Given the description of an element on the screen output the (x, y) to click on. 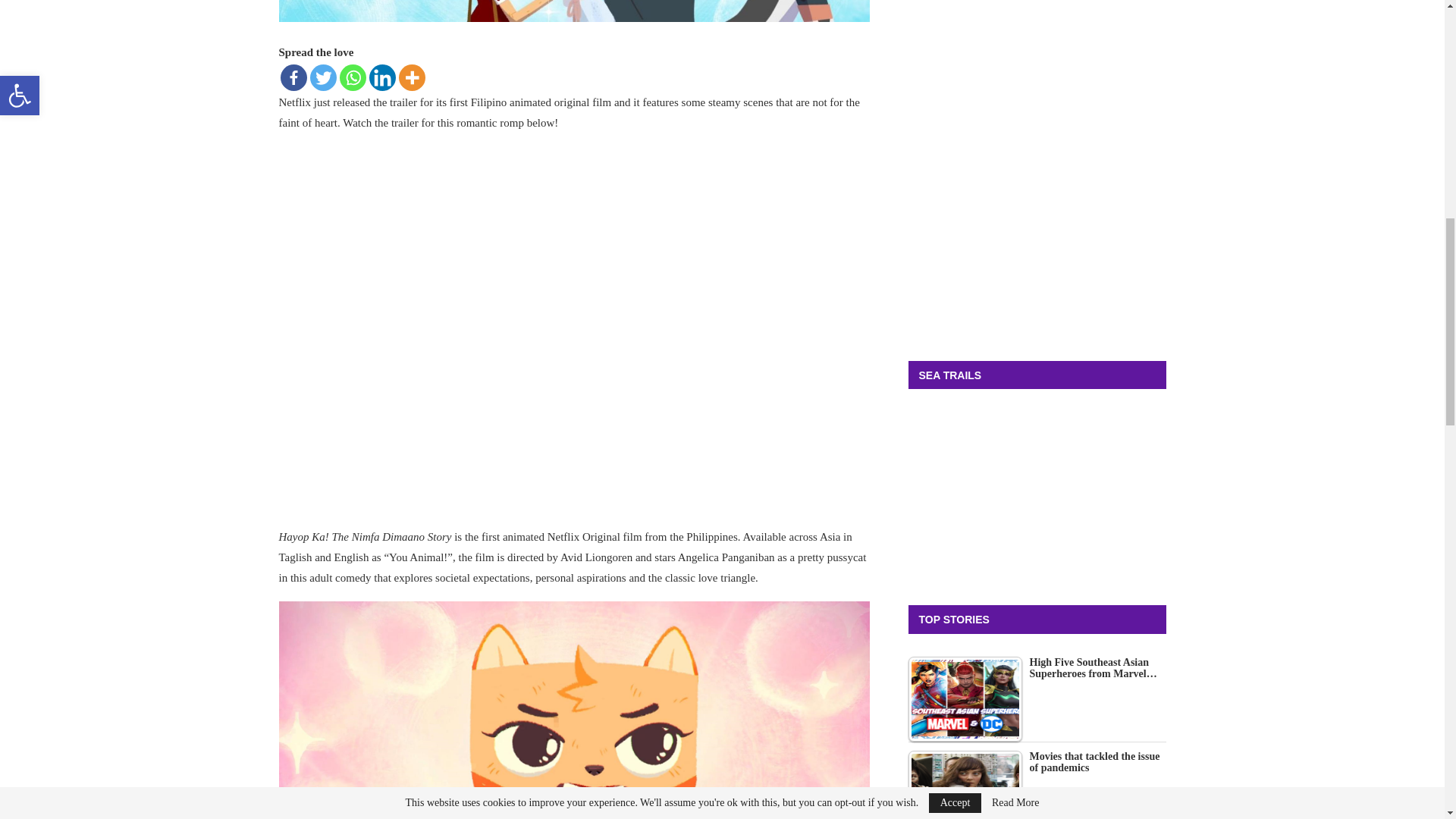
Nimfa Dimaano Hayop Ka 2 (574, 11)
